Given the description of an element on the screen output the (x, y) to click on. 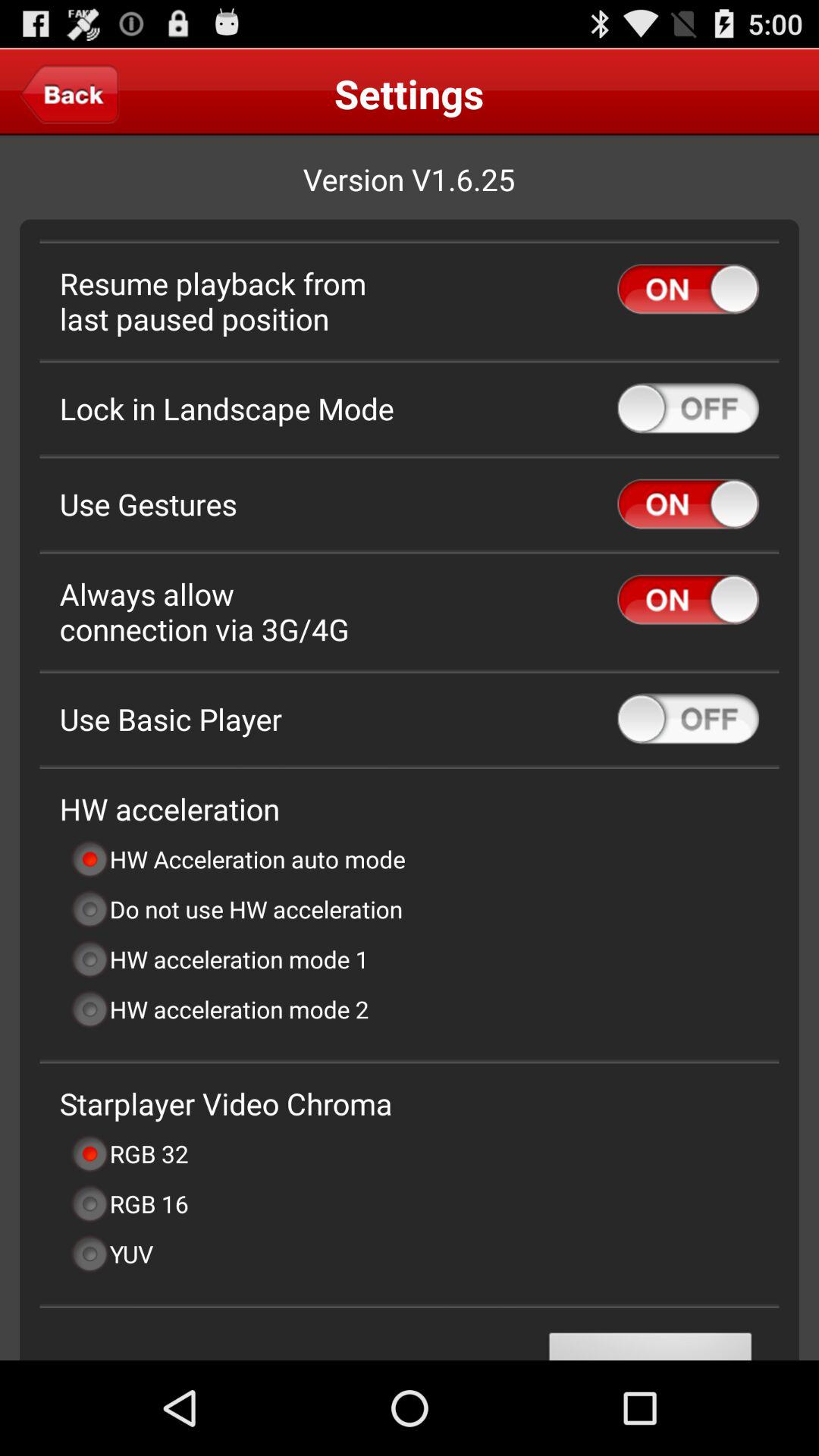
select the item to the left of the settings item (69, 93)
